Given the description of an element on the screen output the (x, y) to click on. 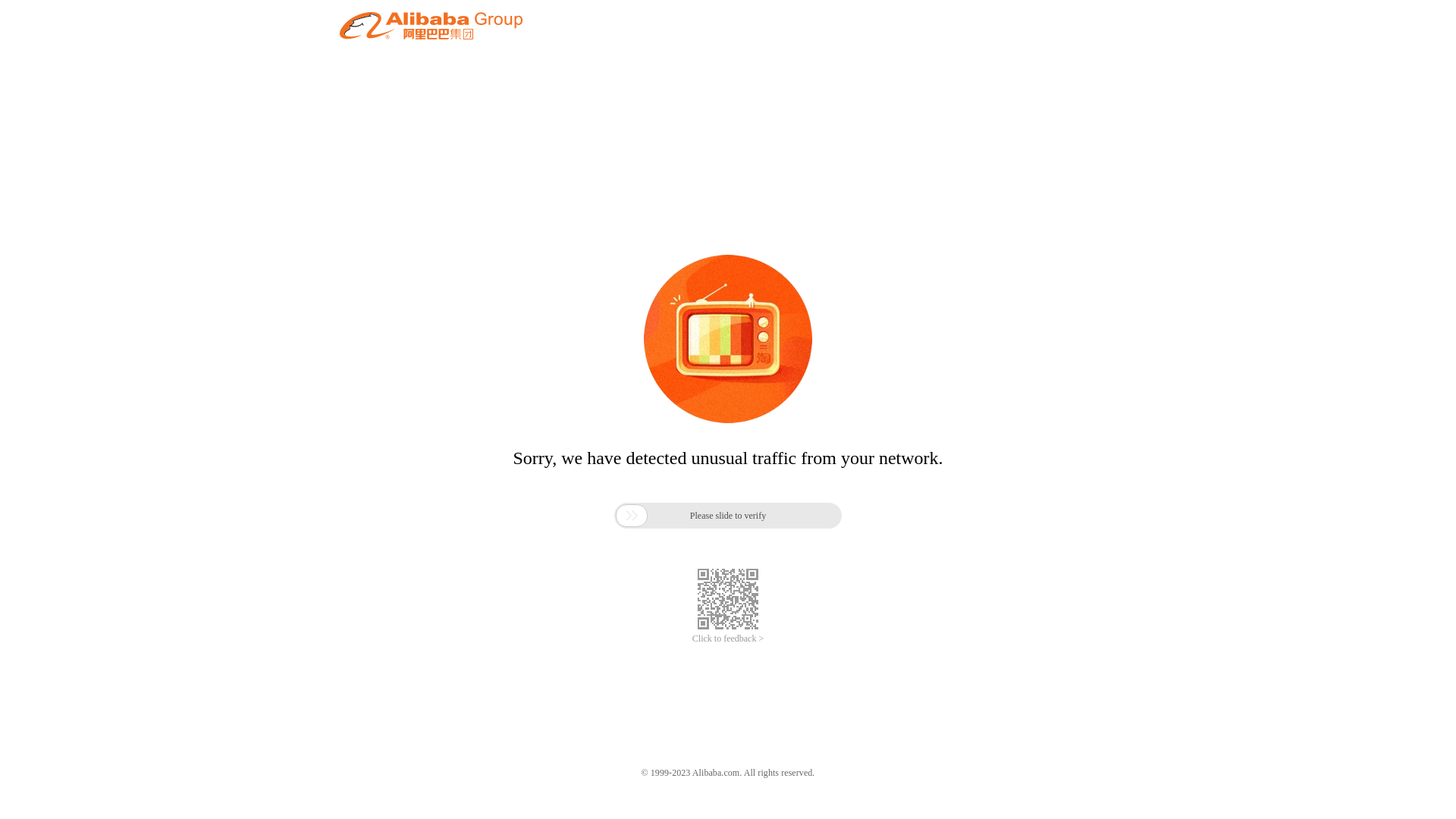
Click to feedback > Element type: text (727, 638)
